Given the description of an element on the screen output the (x, y) to click on. 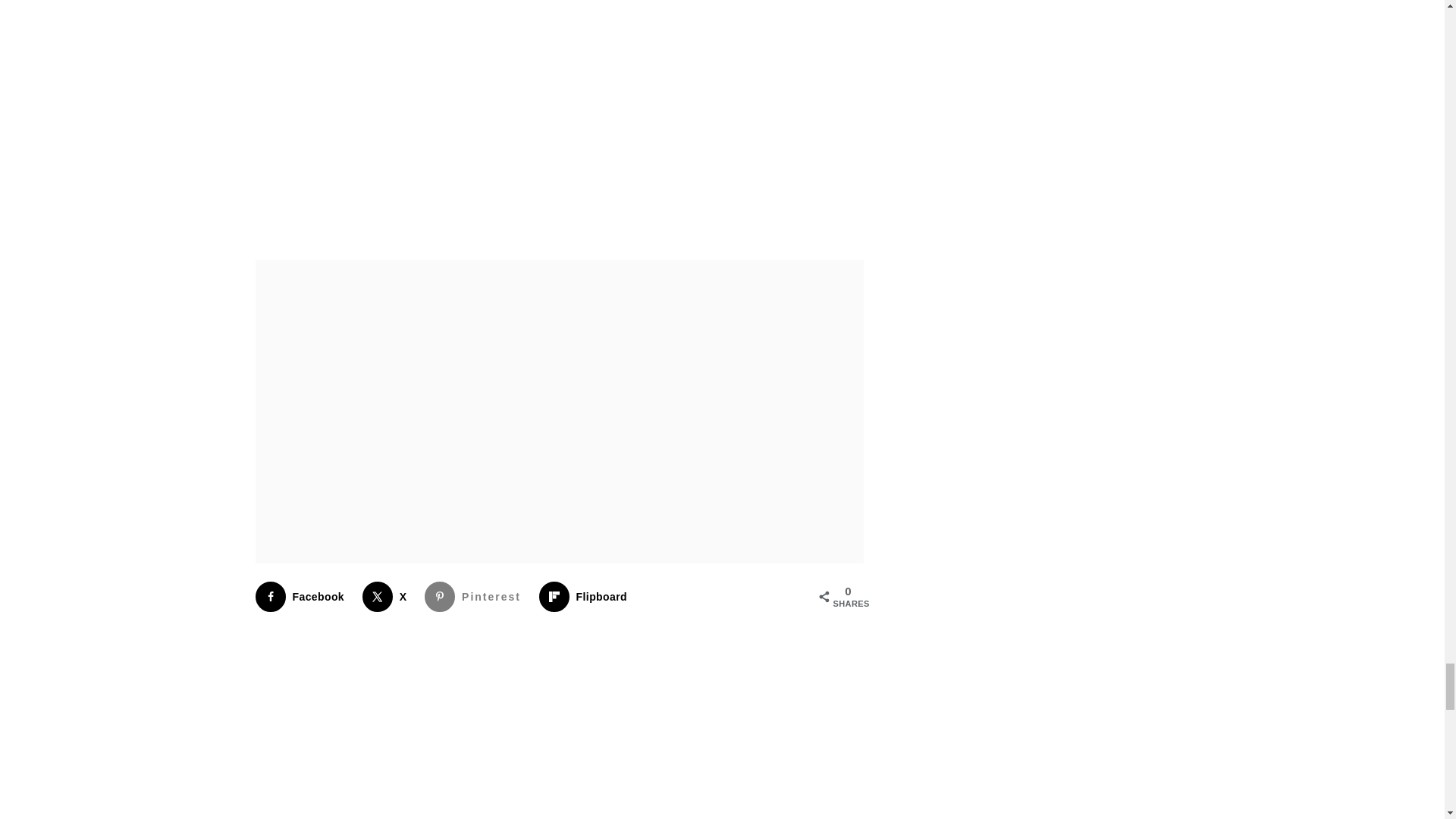
Share on Facebook (302, 596)
Share on Flipboard (585, 596)
Share on X (387, 596)
Save to Pinterest (476, 596)
